Given the description of an element on the screen output the (x, y) to click on. 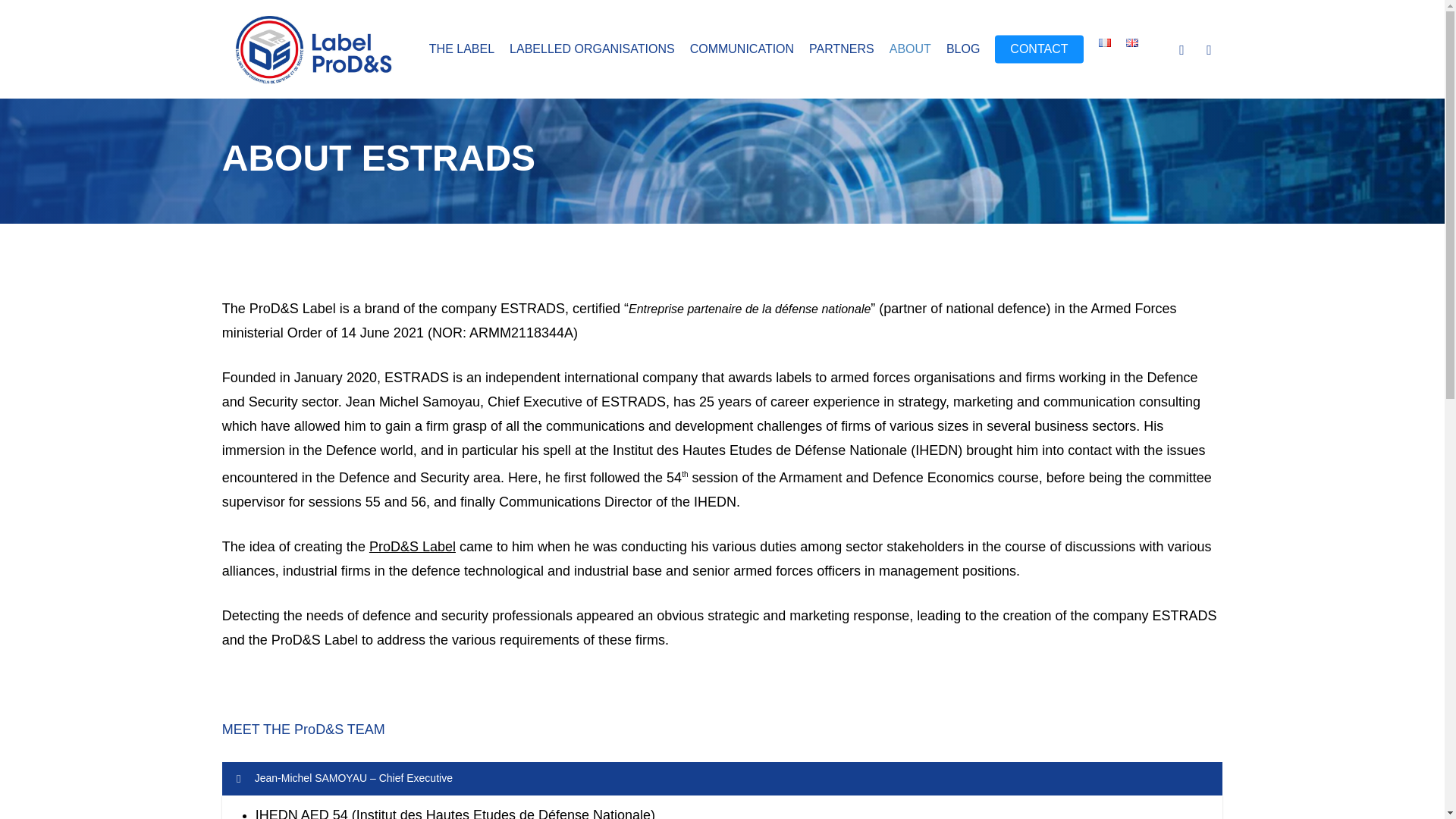
CONTACT (1038, 49)
COMMUNICATION (742, 49)
BLOG (963, 49)
THE LABEL (462, 49)
ABOUT (910, 49)
LABELLED ORGANISATIONS (592, 49)
PARTNERS (842, 49)
